Given the description of an element on the screen output the (x, y) to click on. 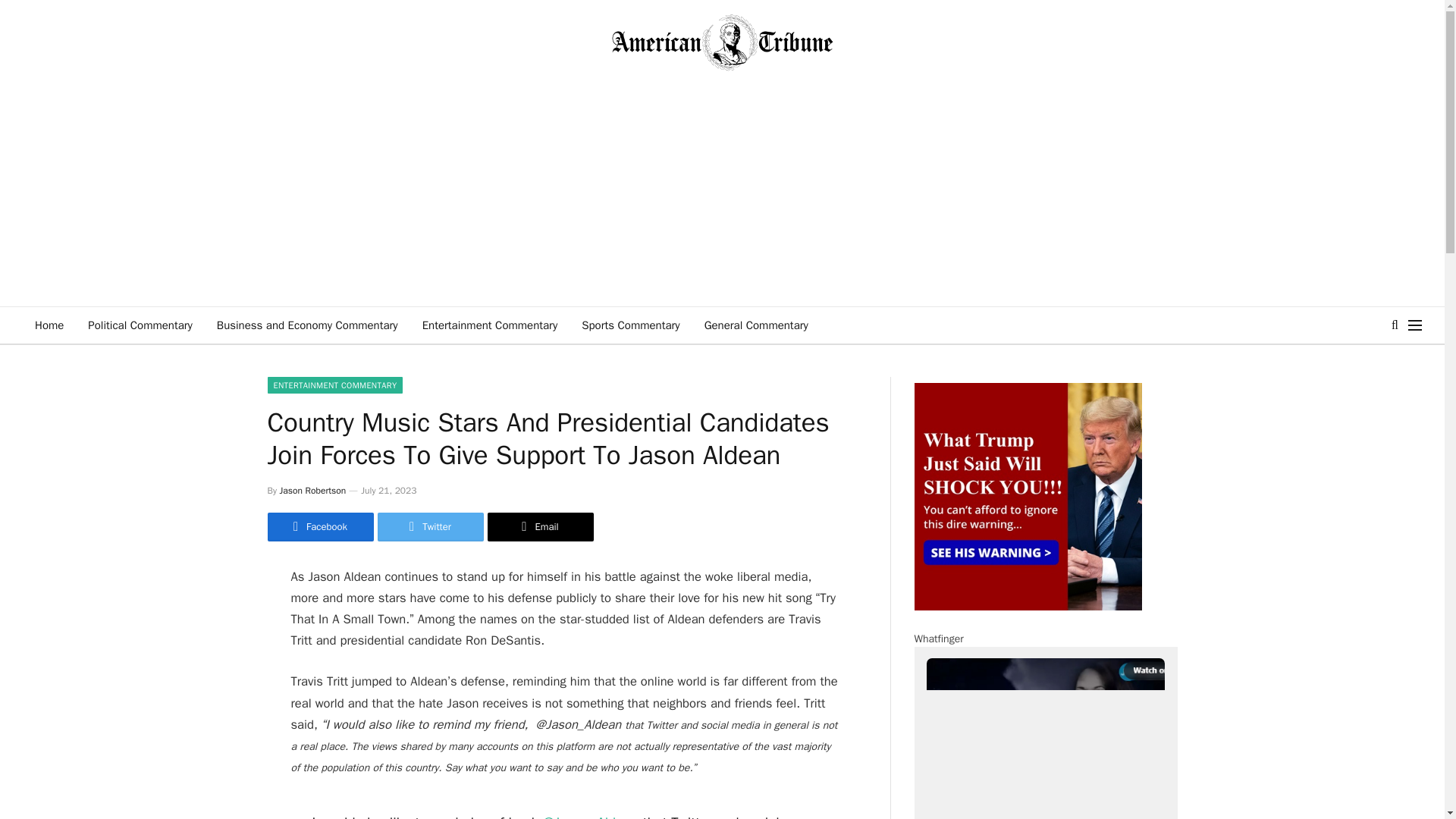
Entertainment Commentary (490, 325)
Facebook (319, 526)
ENTERTAINMENT COMMENTARY (334, 384)
Posts by Jason Robertson (312, 490)
Email (539, 526)
The American Tribune.com (721, 41)
Share via Email (539, 526)
Twitter (430, 526)
Political Commentary (140, 325)
